Given the description of an element on the screen output the (x, y) to click on. 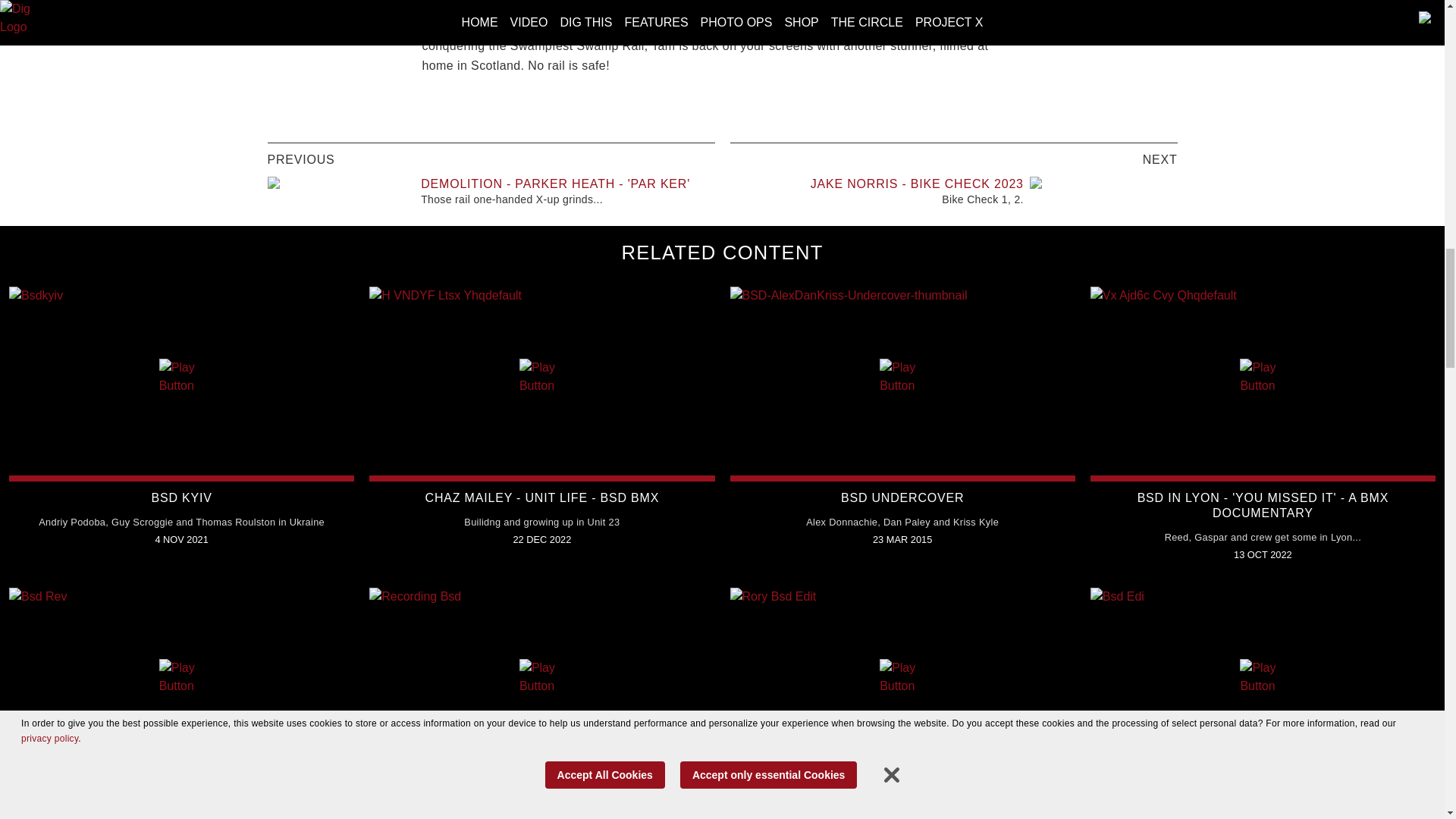
BSD UNDERCOVER (902, 497)
DEMOLITION - PARKER HEATH - 'PAR KER' (555, 183)
BSD (434, 25)
CHAZ MAILEY - UNIT LIFE - BSD BMX (542, 497)
BSD KYIV (181, 497)
JAKE NORRIS - BIKE CHECK 2023 (916, 183)
